Given the description of an element on the screen output the (x, y) to click on. 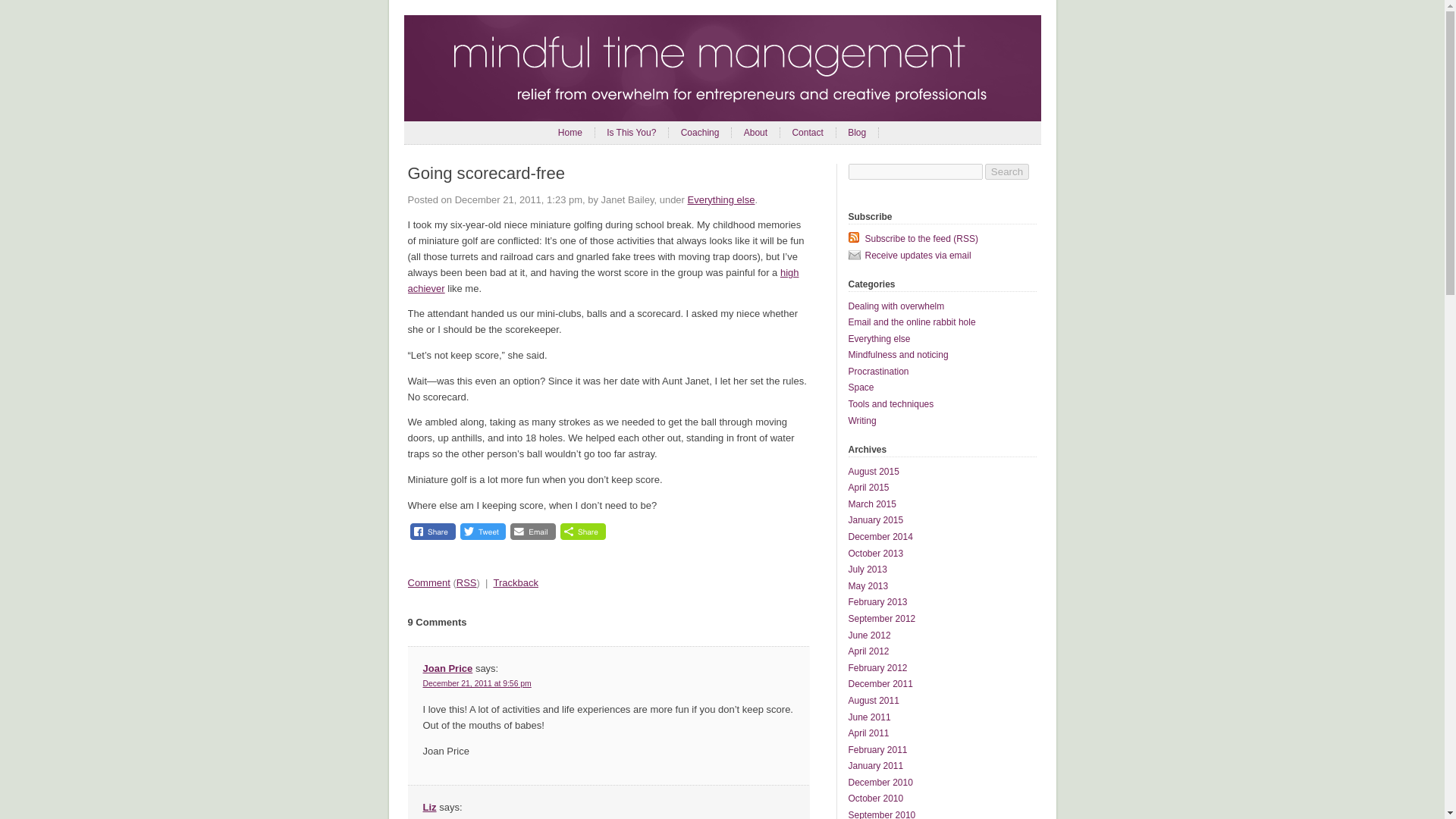
December 21, 2011 at 9:56 pm (477, 683)
high achiever (603, 280)
Receive updates via email (941, 255)
Blog (856, 132)
Procrastination (877, 371)
Space (860, 387)
Dealing with overwhelm (895, 305)
Contact (807, 132)
Email and the online rabbit hole (911, 321)
